Given the description of an element on the screen output the (x, y) to click on. 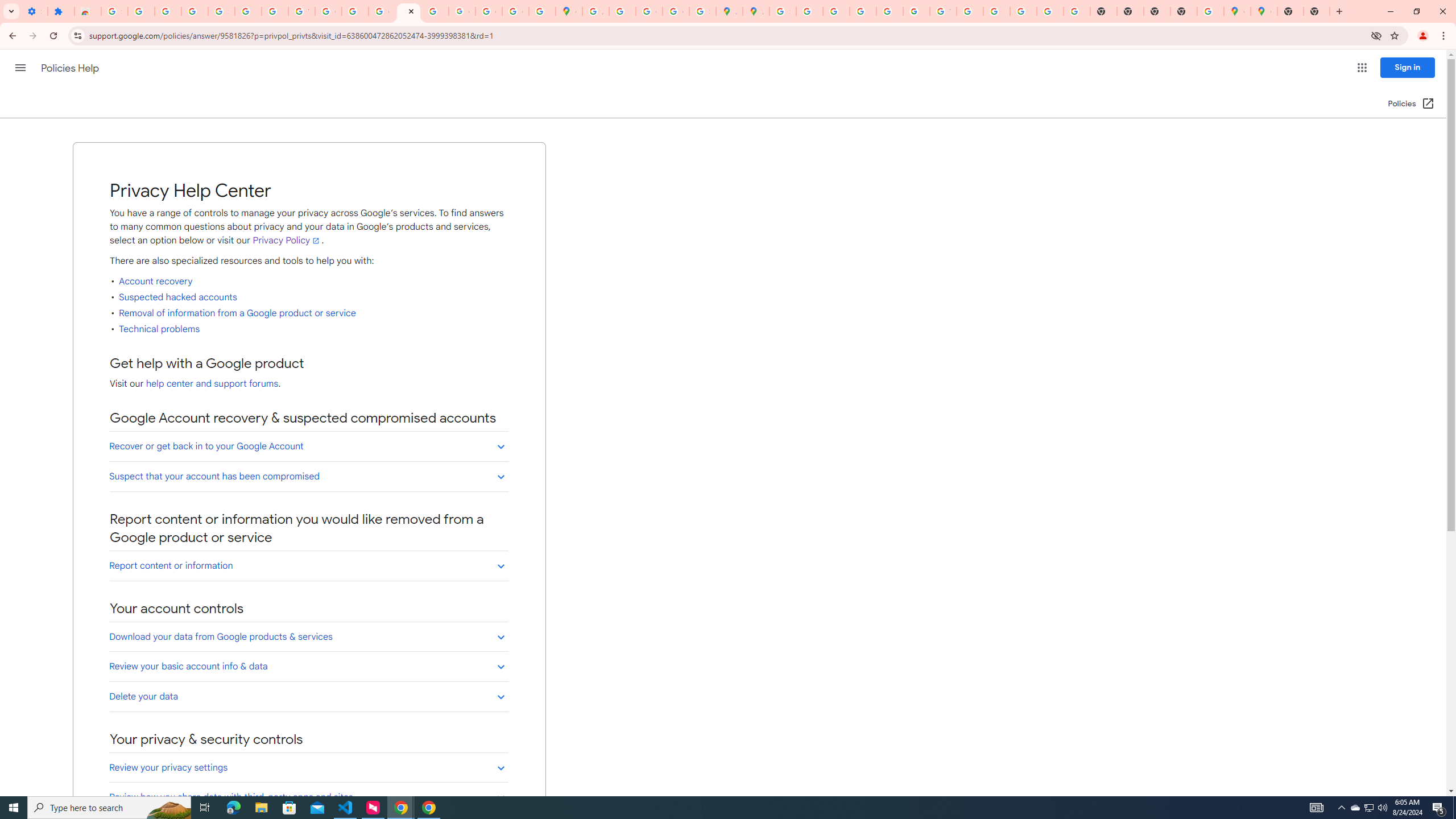
Review your privacy settings (308, 767)
help center and support forums (211, 383)
Delete photos & videos - Computer - Google Photos Help (141, 11)
Report content or information (308, 565)
Privacy Help Center - Policies Help (836, 11)
Safety in Our Products - Google Safety Center (702, 11)
Suspected hacked accounts (178, 297)
